Given the description of an element on the screen output the (x, y) to click on. 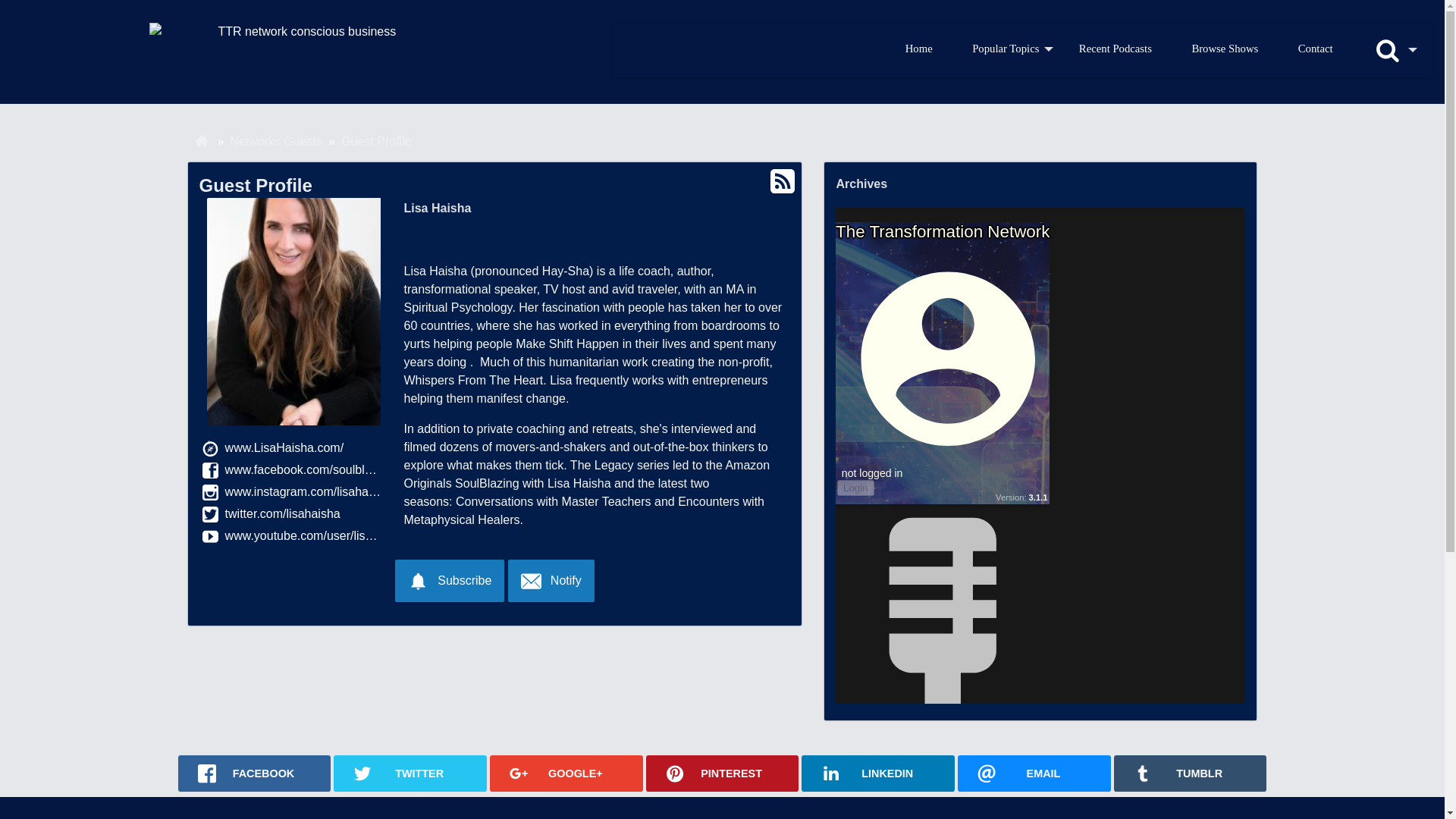
Networks Guests (275, 141)
Recent Podcasts (1115, 48)
TUMBLR (1189, 773)
Browse Shows (1224, 48)
 Subscribe (448, 580)
PINTEREST (722, 773)
EMAIL (1034, 773)
Home (918, 48)
Subscribe to RSS Archives (782, 181)
Contact (1315, 48)
TWITTER (409, 773)
LINKEDIN (878, 773)
